Given the description of an element on the screen output the (x, y) to click on. 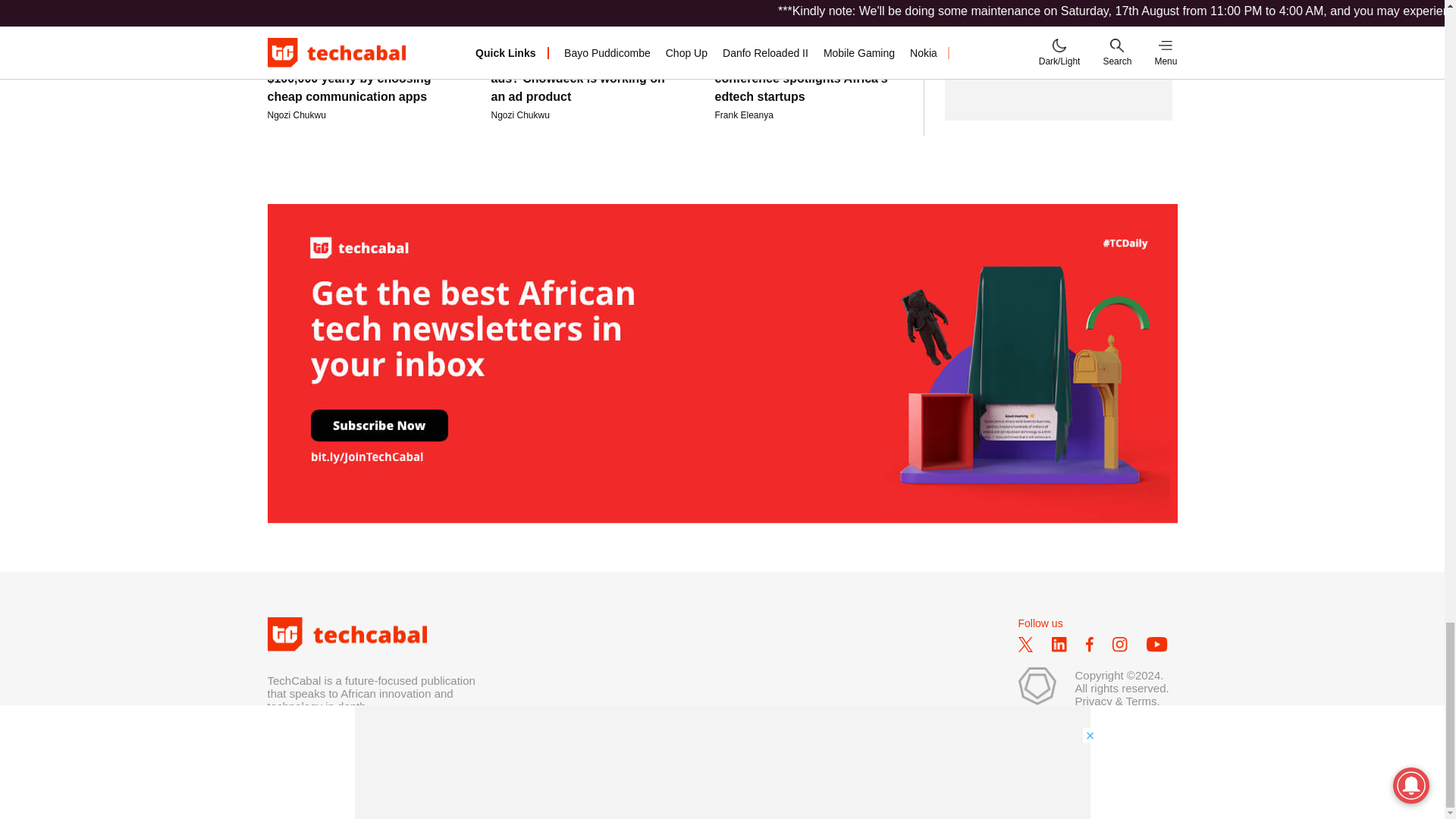
Posts by Ngozi Chukwu (521, 114)
Posts by Ngozi Chukwu (295, 114)
Posts by Frank Eleanya (743, 114)
